Given the description of an element on the screen output the (x, y) to click on. 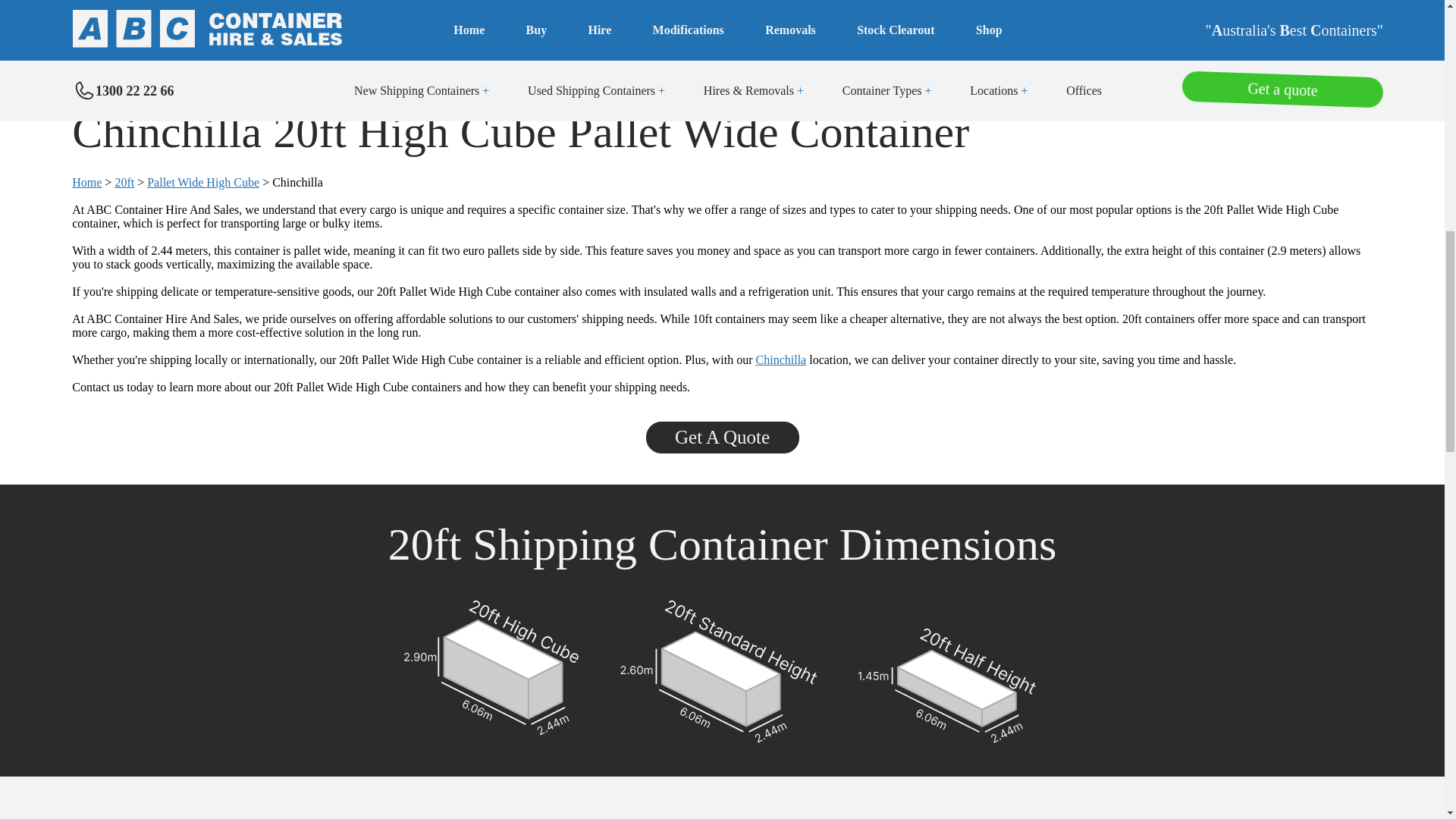
Get A Quote (722, 439)
Home (86, 182)
20ft (124, 182)
Pallet Wide High Cube (203, 182)
Chinchilla (780, 359)
